Given the description of an element on the screen output the (x, y) to click on. 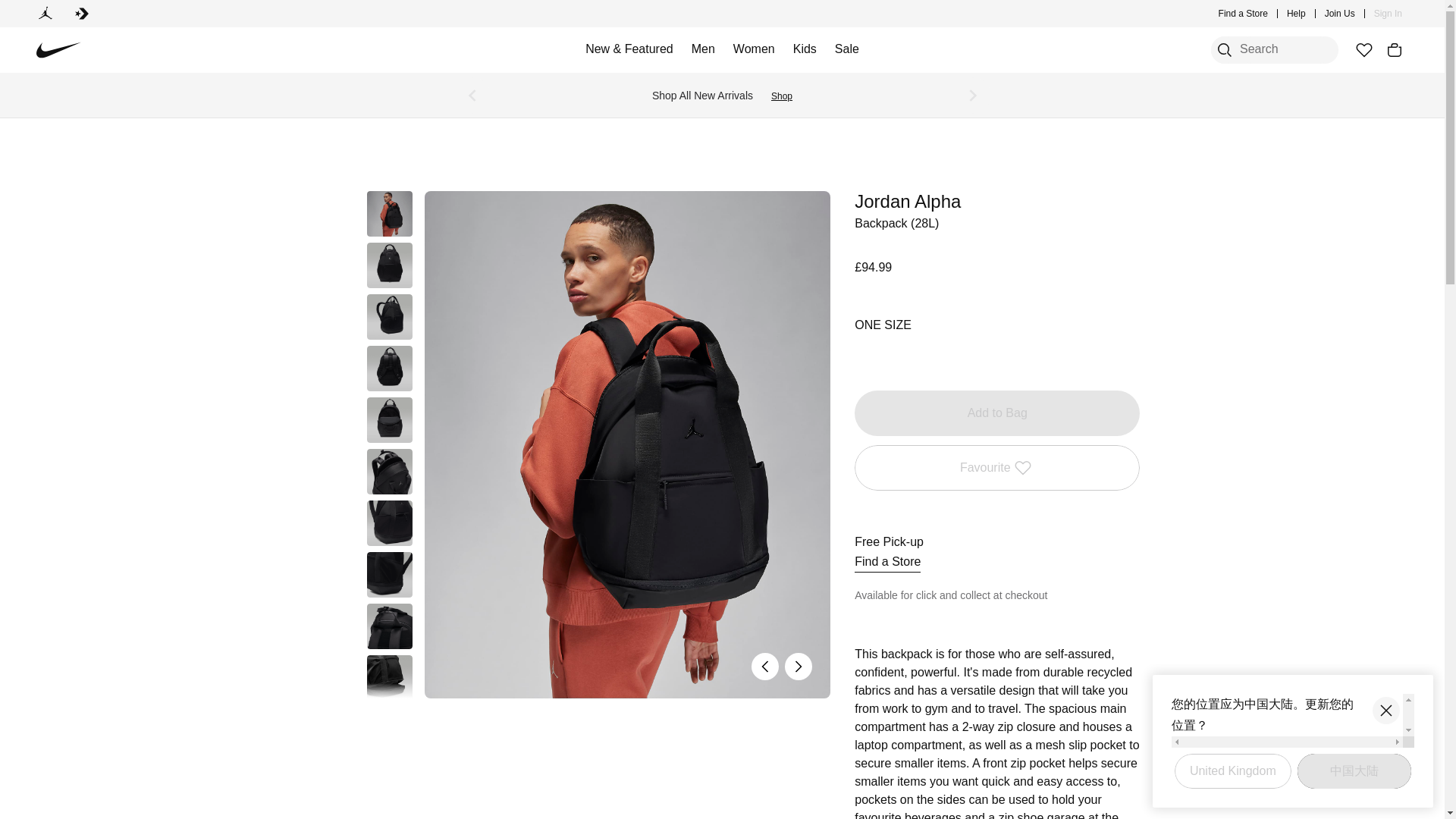
Sign In (1388, 13)
Bag Items: 0 (1393, 49)
Find a Store (1243, 13)
Favourites (1364, 49)
Join Us (1339, 13)
Help (1296, 13)
